Given the description of an element on the screen output the (x, y) to click on. 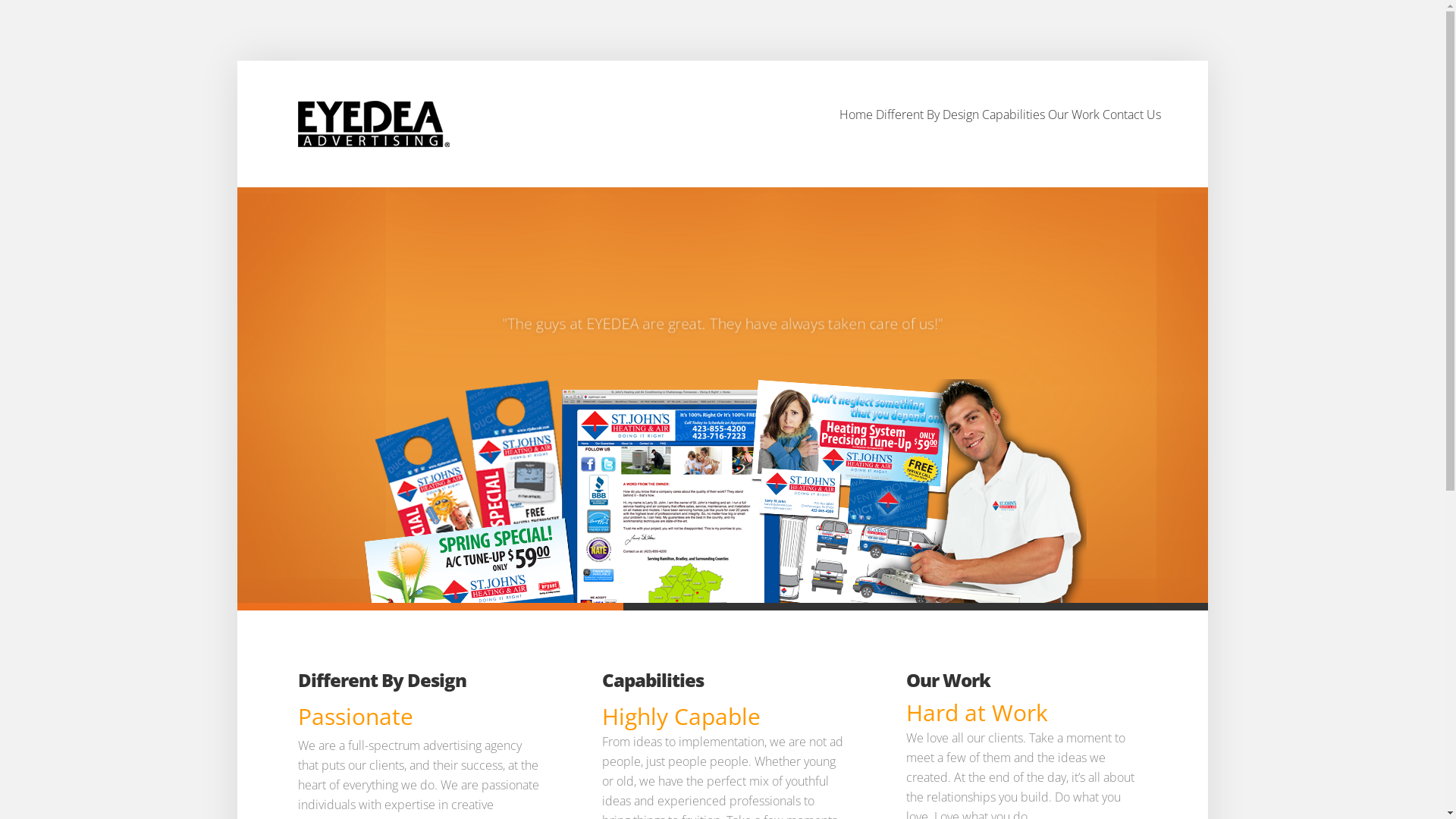
Home Element type: text (855, 124)
Our Work Element type: text (947, 679)
Our Work Element type: text (1073, 124)
Different By Design Element type: text (926, 124)
Contact Us Element type: text (1131, 124)
Capabilities Element type: text (652, 679)
Capabilities Element type: text (1012, 124)
Different By Design Element type: text (381, 679)
Showing Some Love Element type: text (722, 288)
